Given the description of an element on the screen output the (x, y) to click on. 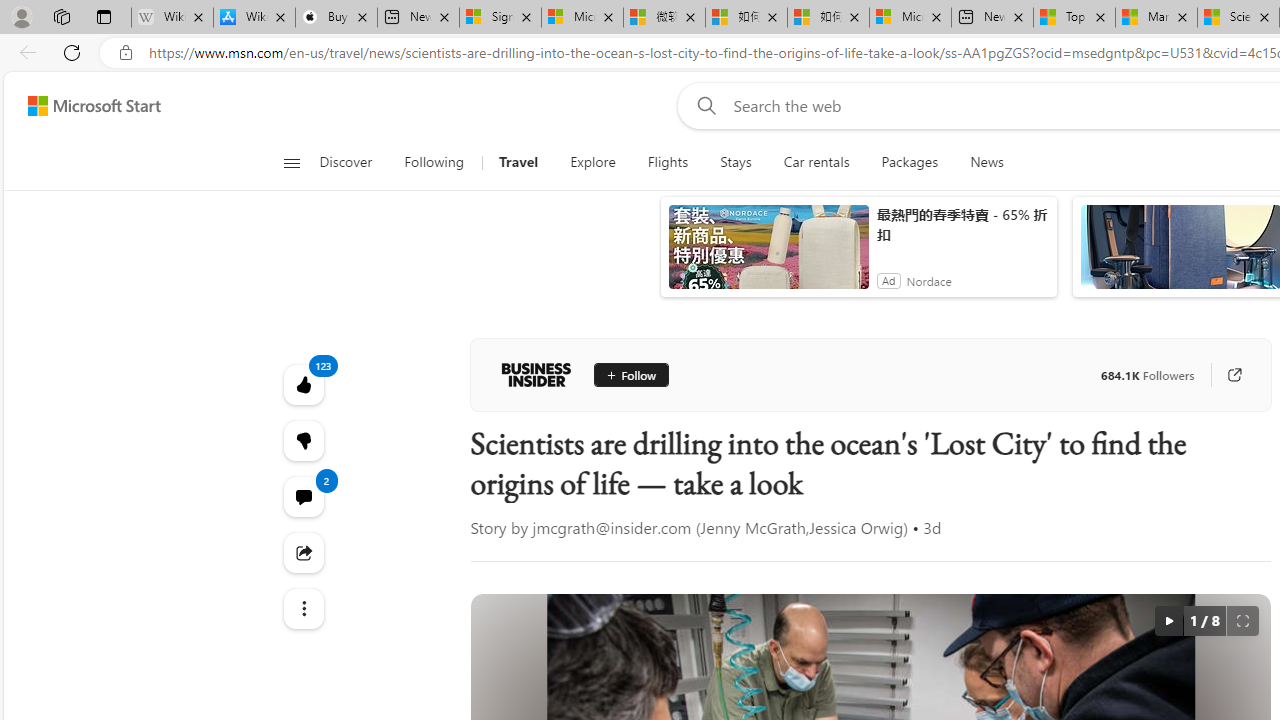
anim-content (768, 255)
Packages (909, 162)
Open navigation menu (291, 162)
Flights (668, 162)
Stays (736, 162)
Skip to footer (82, 105)
Explore (593, 162)
Top Stories - MSN (1074, 17)
Buy iPad - Apple (336, 17)
autorotate button (1168, 620)
